Given the description of an element on the screen output the (x, y) to click on. 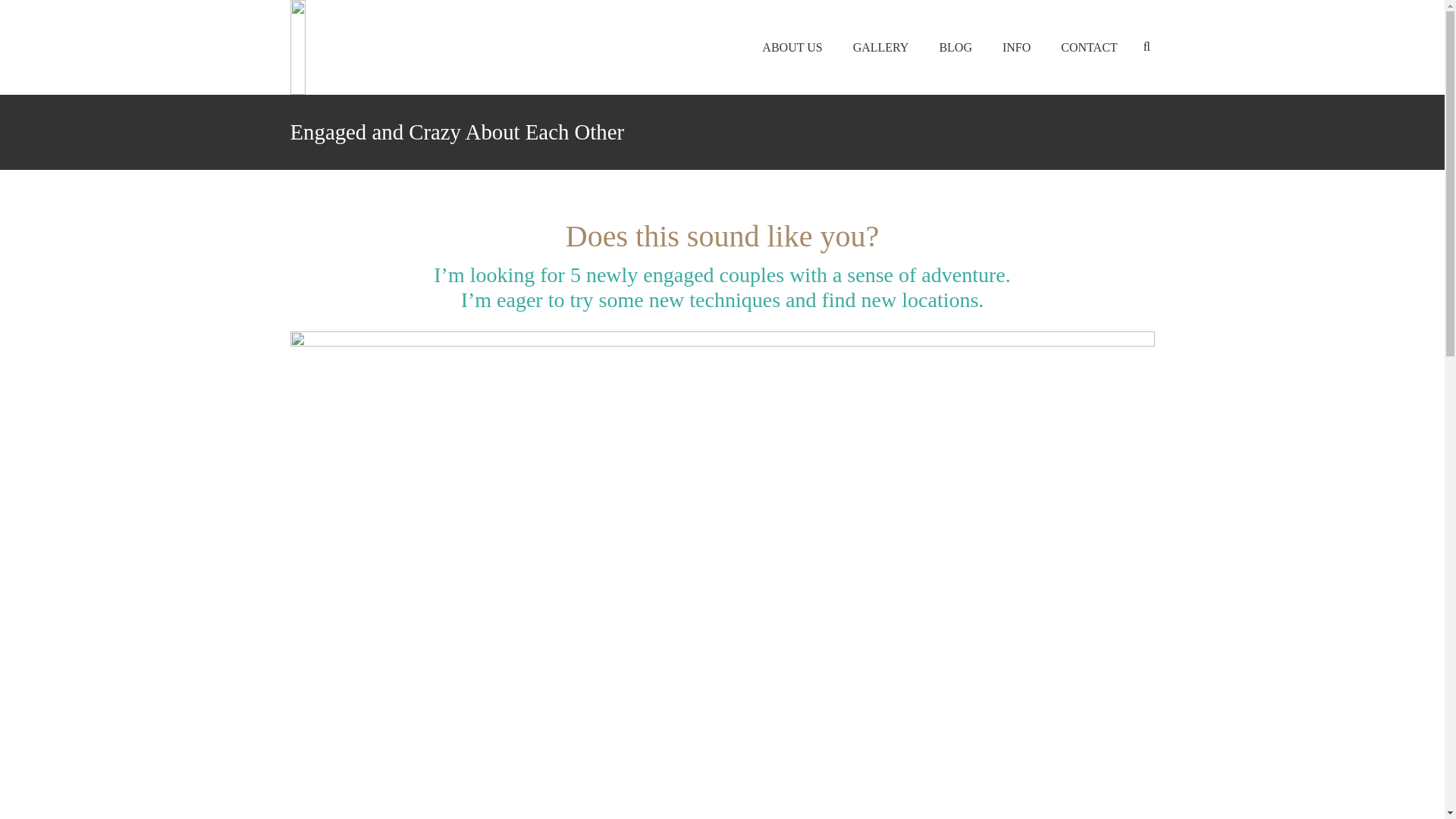
GALLERY (881, 47)
CONTACT (1088, 47)
ABOUT US (791, 47)
